Given the description of an element on the screen output the (x, y) to click on. 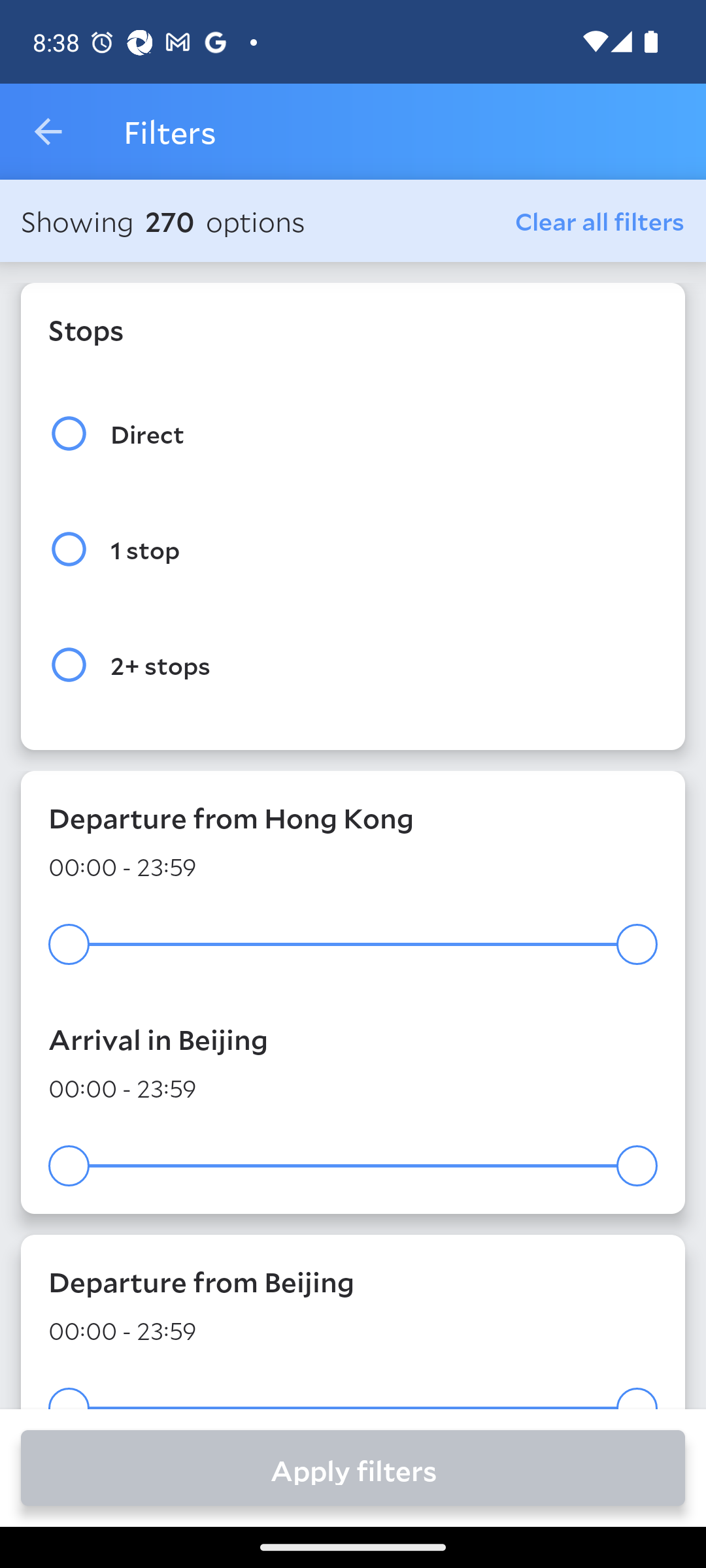
Navigate up (48, 131)
Clear all filters (599, 219)
Direct (352, 433)
1 stop (352, 548)
2+ stops (352, 664)
Apply filters (352, 1467)
